Given the description of an element on the screen output the (x, y) to click on. 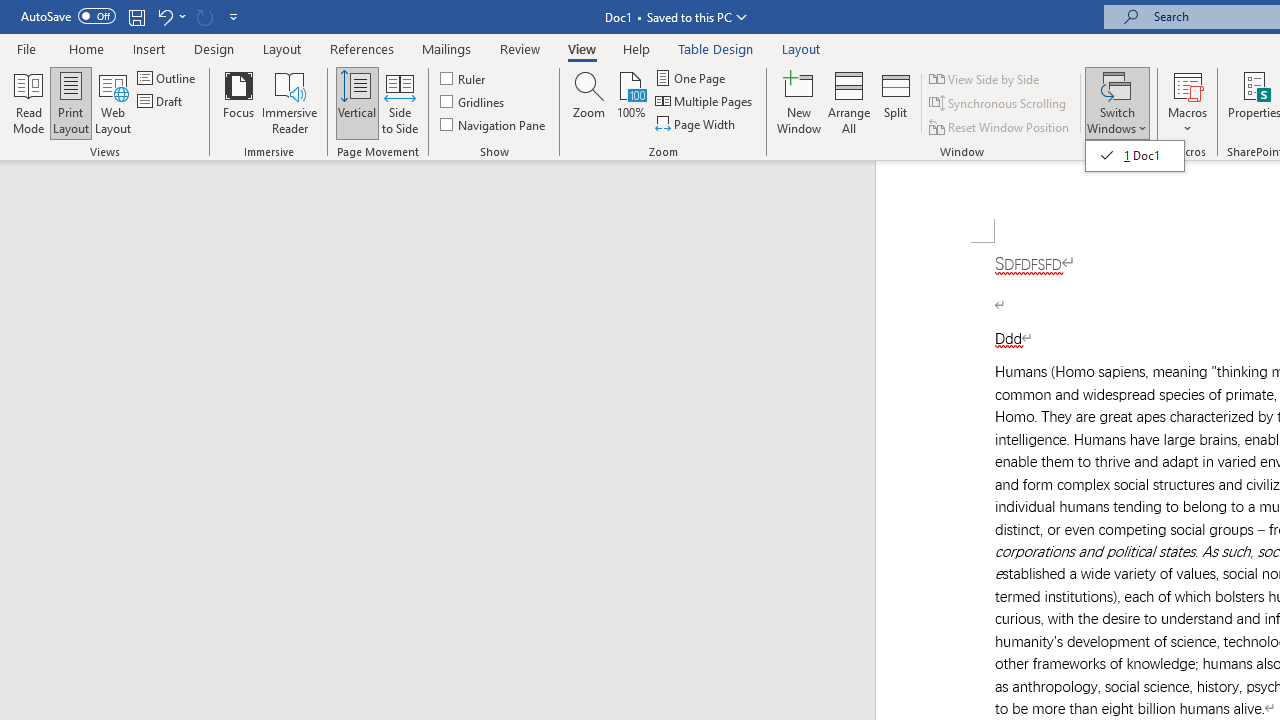
Outline (168, 78)
Draft (161, 101)
Focus (238, 102)
